Given the description of an element on the screen output the (x, y) to click on. 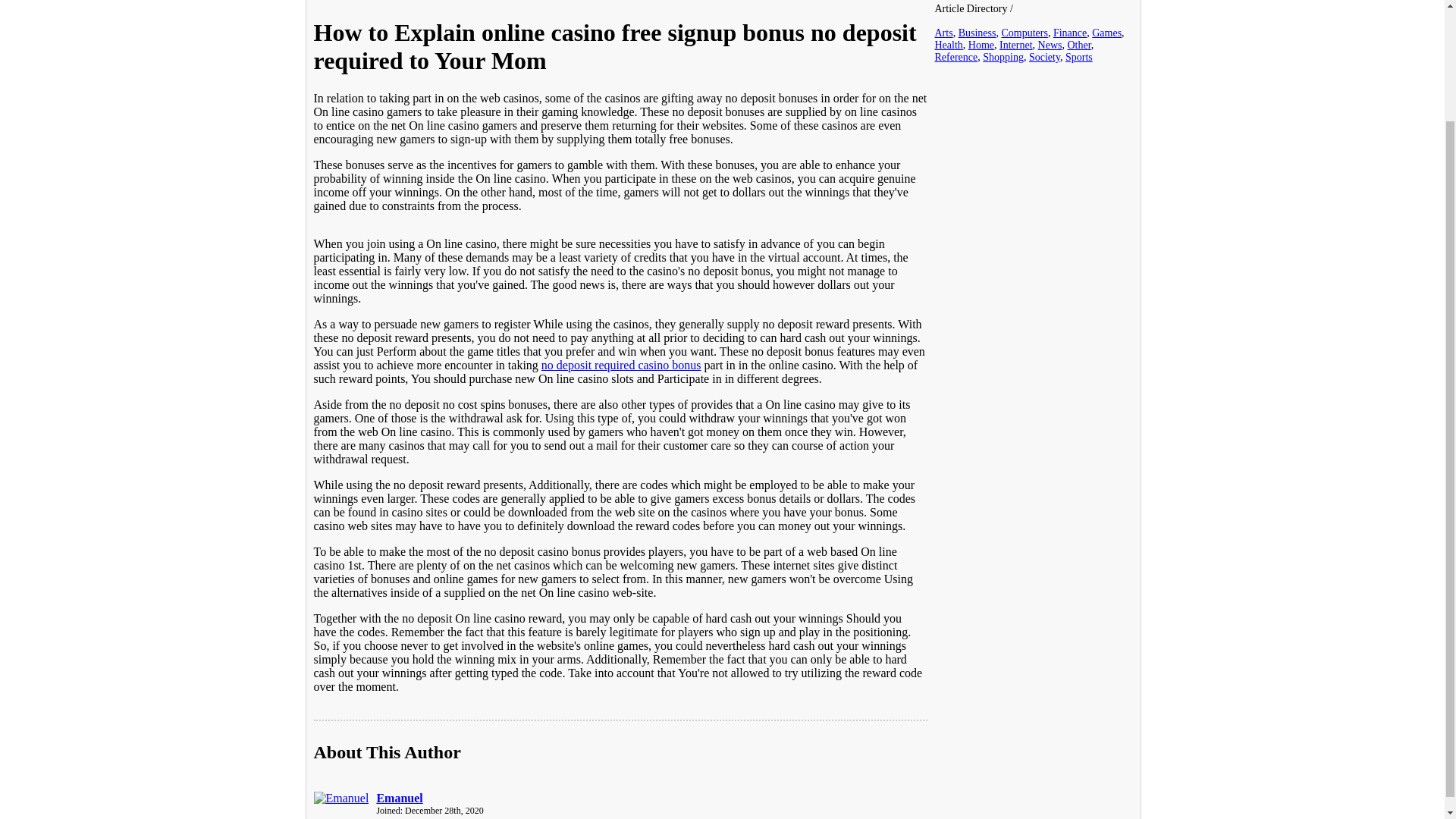
Business (976, 32)
Sports (1079, 57)
Home (981, 44)
Internet (1015, 44)
Society (1044, 57)
Other (1078, 44)
Arts (943, 32)
Computers (1023, 32)
Games (1106, 32)
News (1050, 44)
Finance (1069, 32)
Reference (955, 57)
Shopping (1002, 57)
Health (948, 44)
no deposit required casino bonus (621, 364)
